Given the description of an element on the screen output the (x, y) to click on. 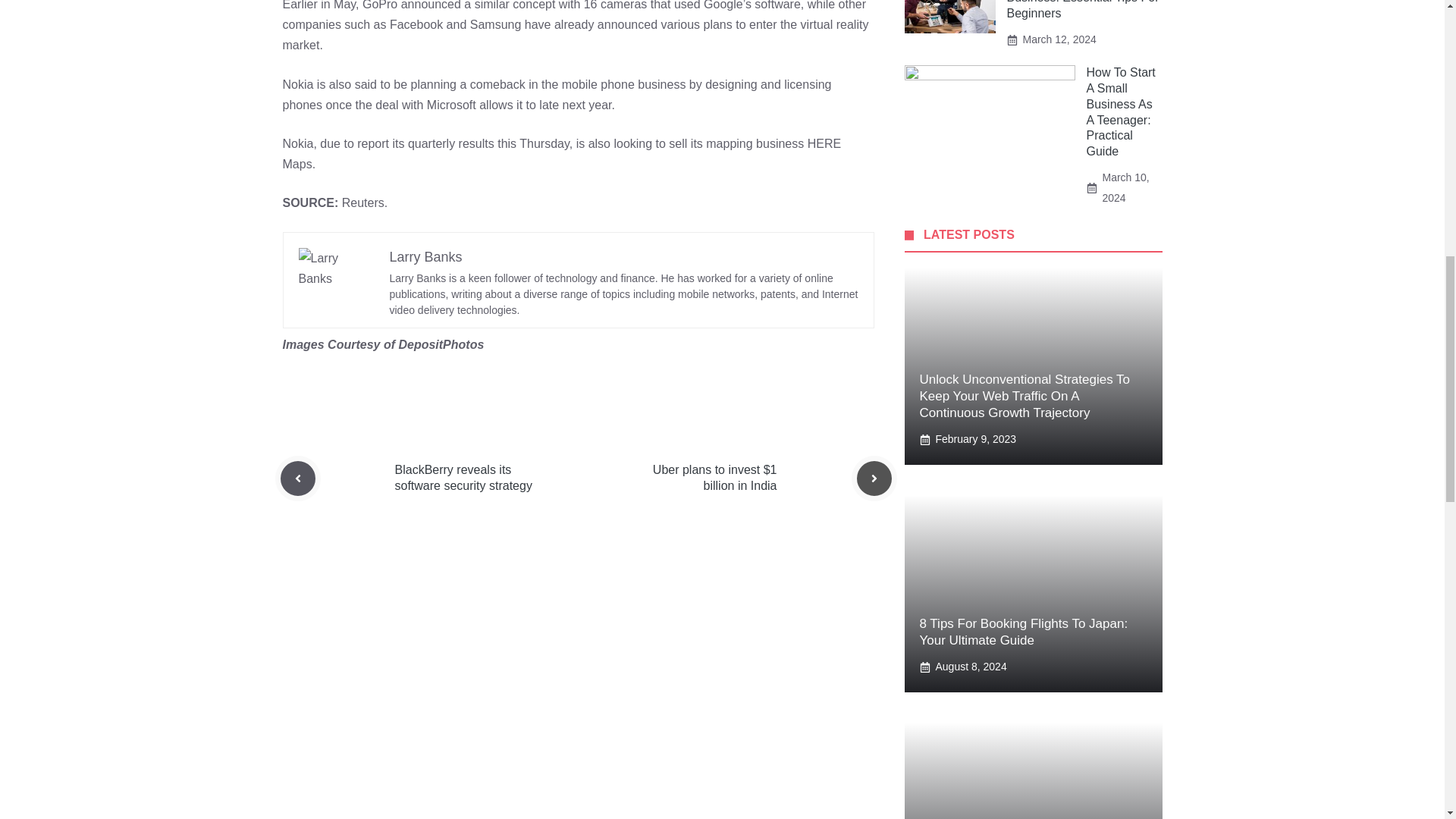
8 Tips For Booking Flights To Japan: Your Ultimate Guide (1022, 631)
BlackBerry reveals its software security strategy (462, 477)
DepositPhotos (440, 344)
Larry Banks (426, 255)
Scroll back to top (1406, 720)
Reuters (363, 202)
